Given the description of an element on the screen output the (x, y) to click on. 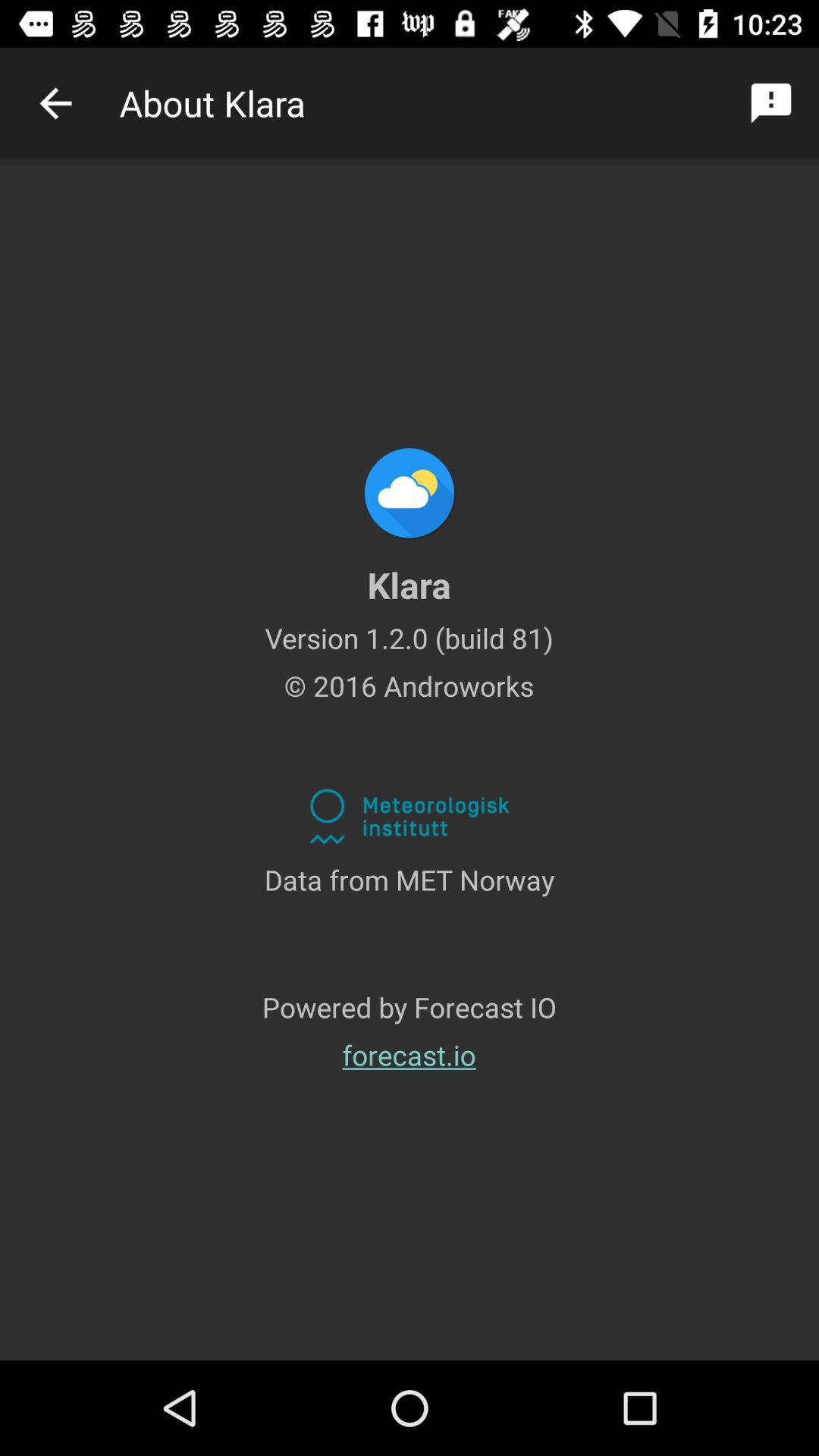
previous selection (55, 103)
